Given the description of an element on the screen output the (x, y) to click on. 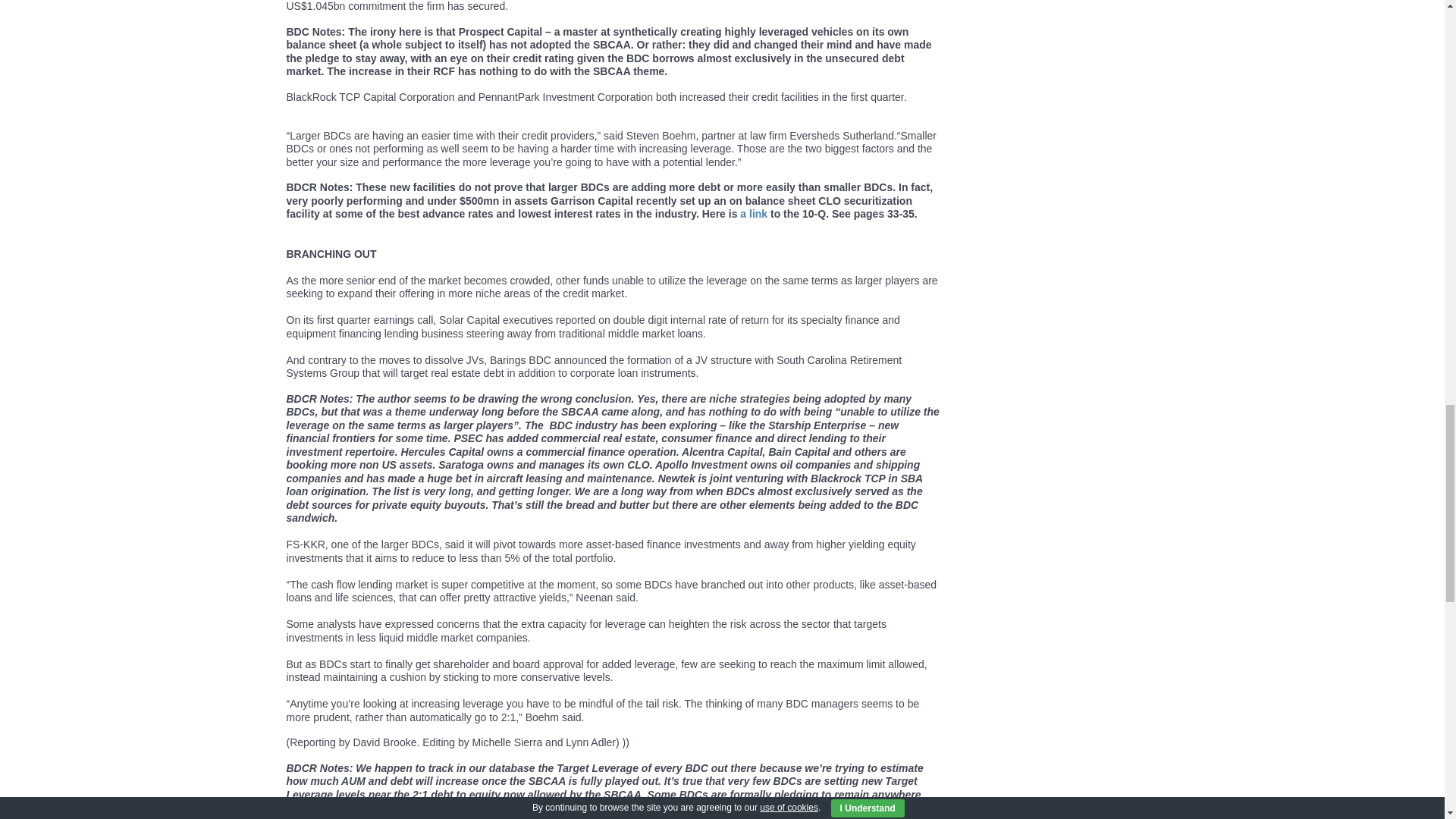
a link (753, 214)
